Given the description of an element on the screen output the (x, y) to click on. 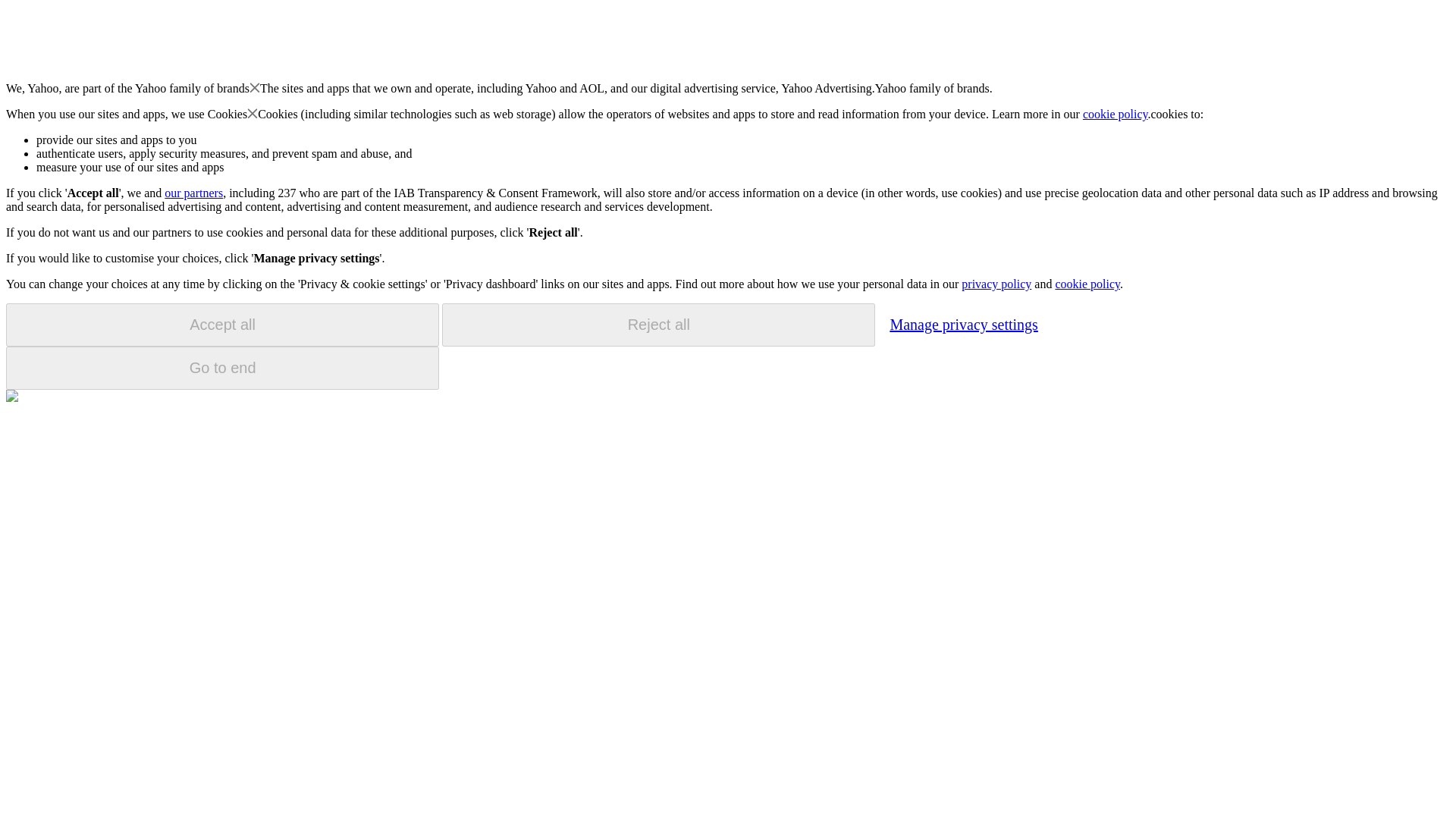
Accept all (222, 324)
Manage privacy settings (963, 323)
our partners (193, 192)
cookie policy (1086, 283)
Go to end (222, 367)
cookie policy (1115, 113)
privacy policy (995, 283)
Reject all (658, 324)
